Given the description of an element on the screen output the (x, y) to click on. 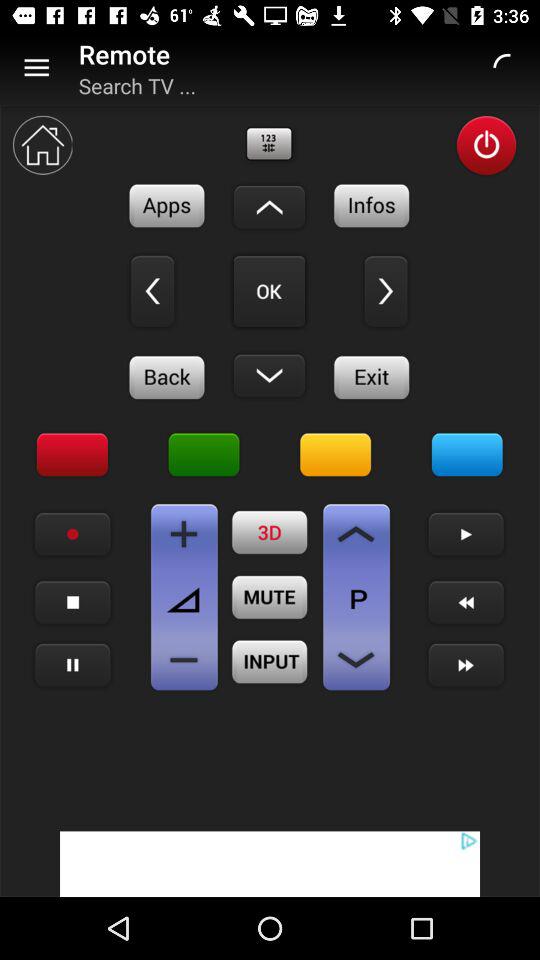
playing the song (72, 665)
